Given the description of an element on the screen output the (x, y) to click on. 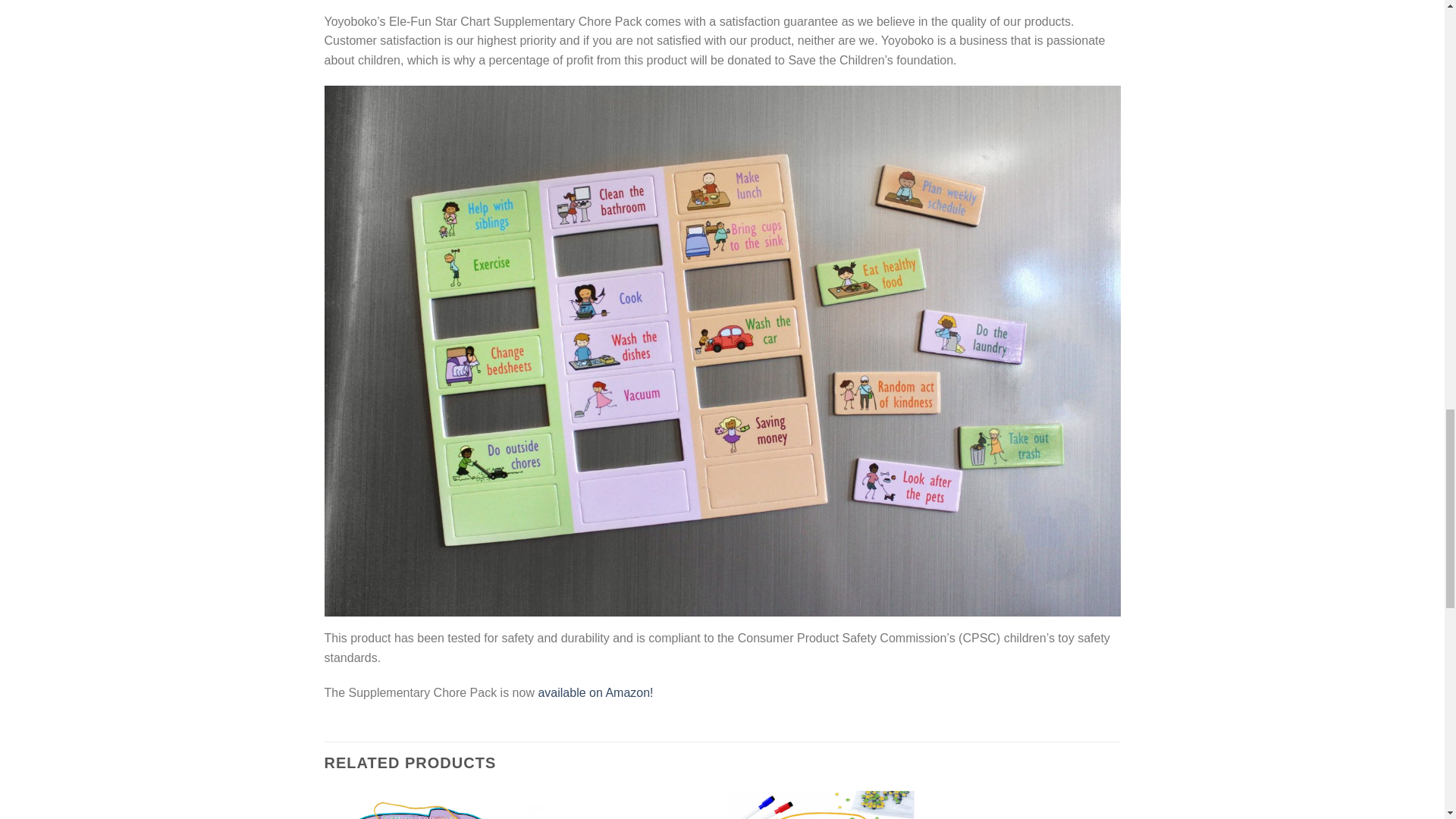
School chart image 2 - thumbnail (619, 805)
AMZ2 (821, 805)
Good Behaviour and Responsibility Chart for Up To 4 Kids (417, 805)
